Given the description of an element on the screen output the (x, y) to click on. 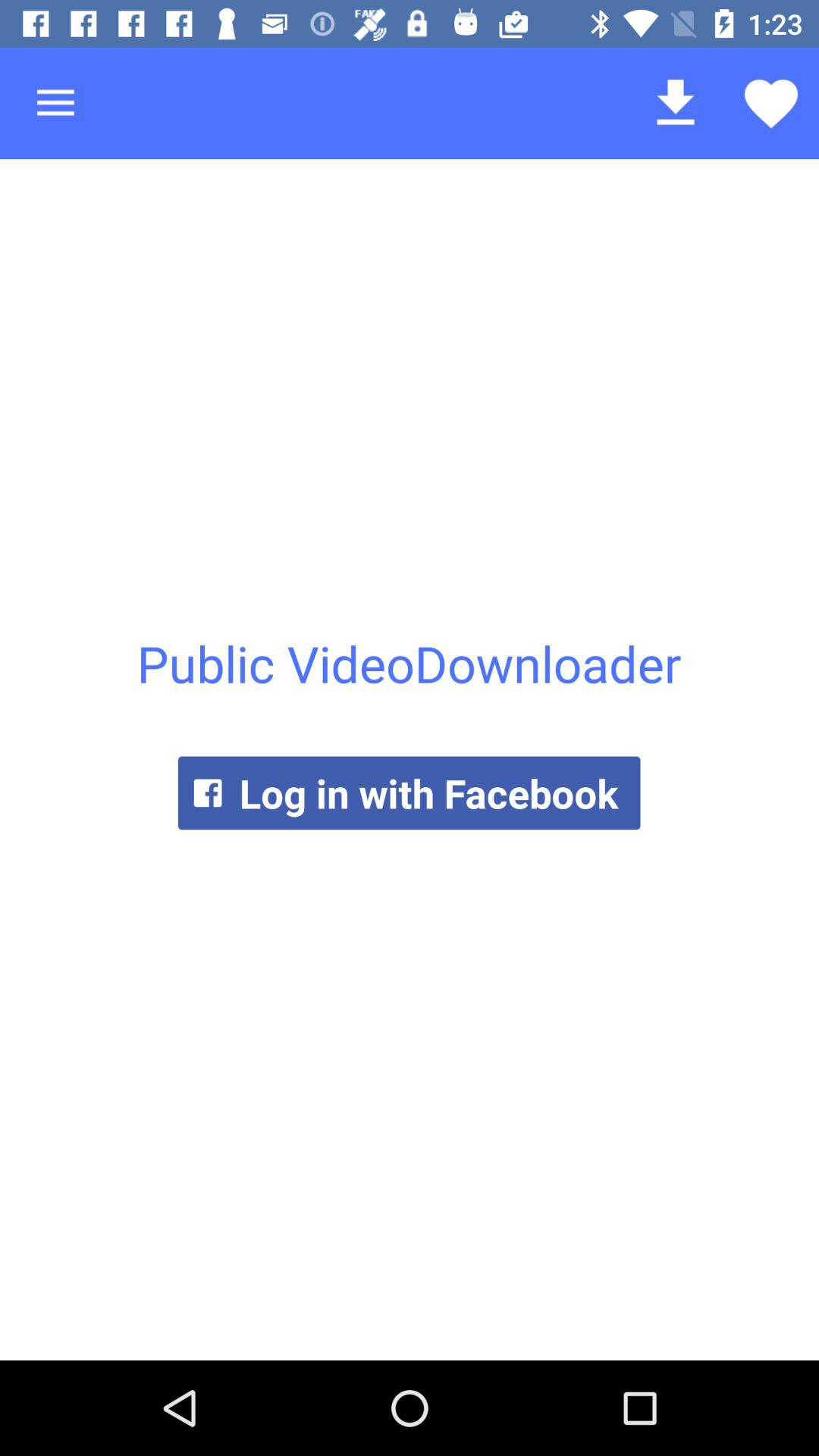
turn on the icon above public videodownloader (55, 103)
